Given the description of an element on the screen output the (x, y) to click on. 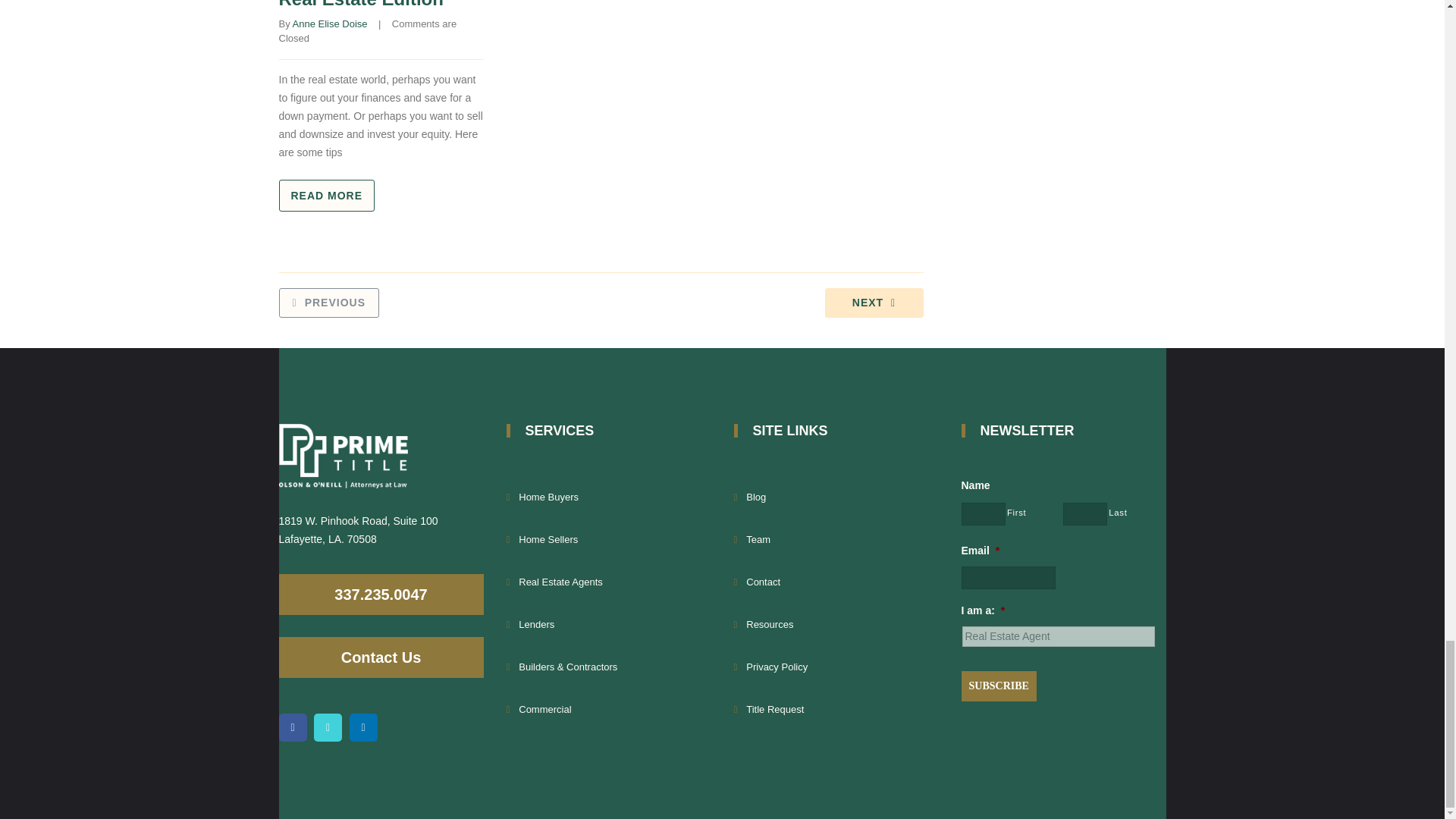
Subscribe (998, 685)
